Given the description of an element on the screen output the (x, y) to click on. 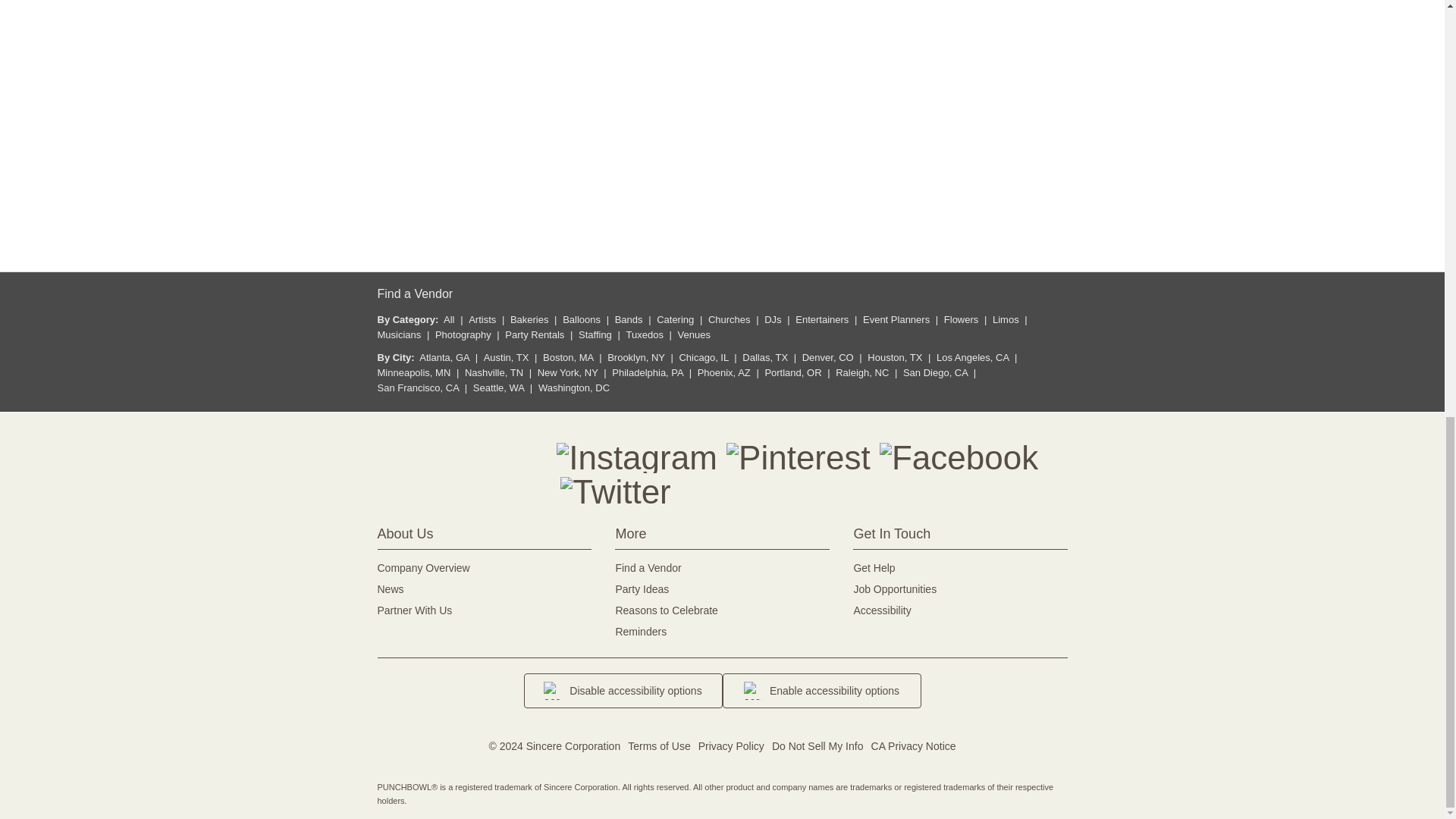
Bodyworks Atlanta image (833, 134)
